Given the description of an element on the screen output the (x, y) to click on. 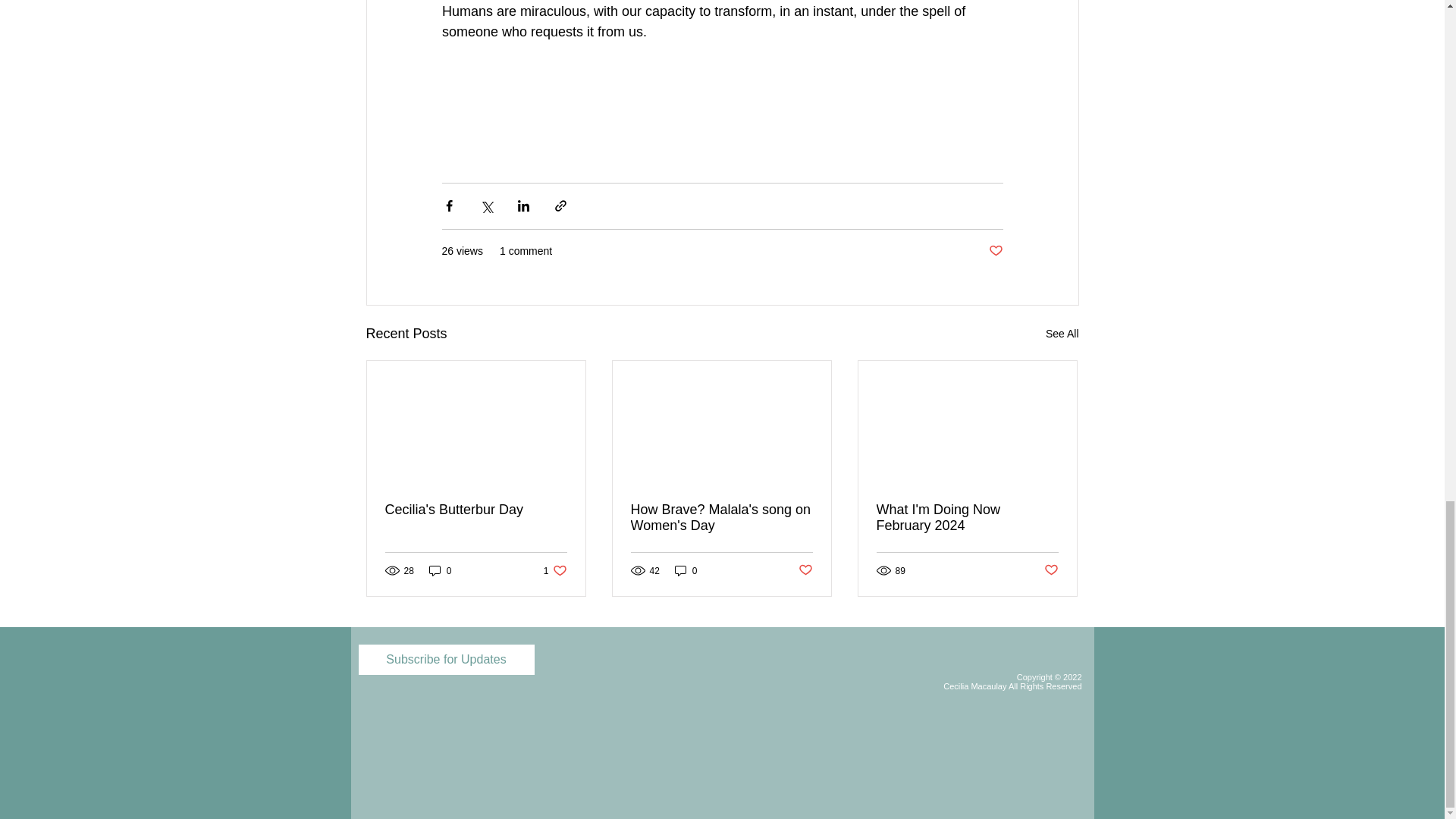
Post not marked as liked (995, 251)
What I'm Doing Now February 2024 (555, 570)
How Brave? Malala's song on Women's Day (967, 517)
Cecilia's Butterbur Day (721, 517)
Post not marked as liked (476, 509)
See All (804, 570)
0 (1061, 333)
0 (685, 570)
